Given the description of an element on the screen output the (x, y) to click on. 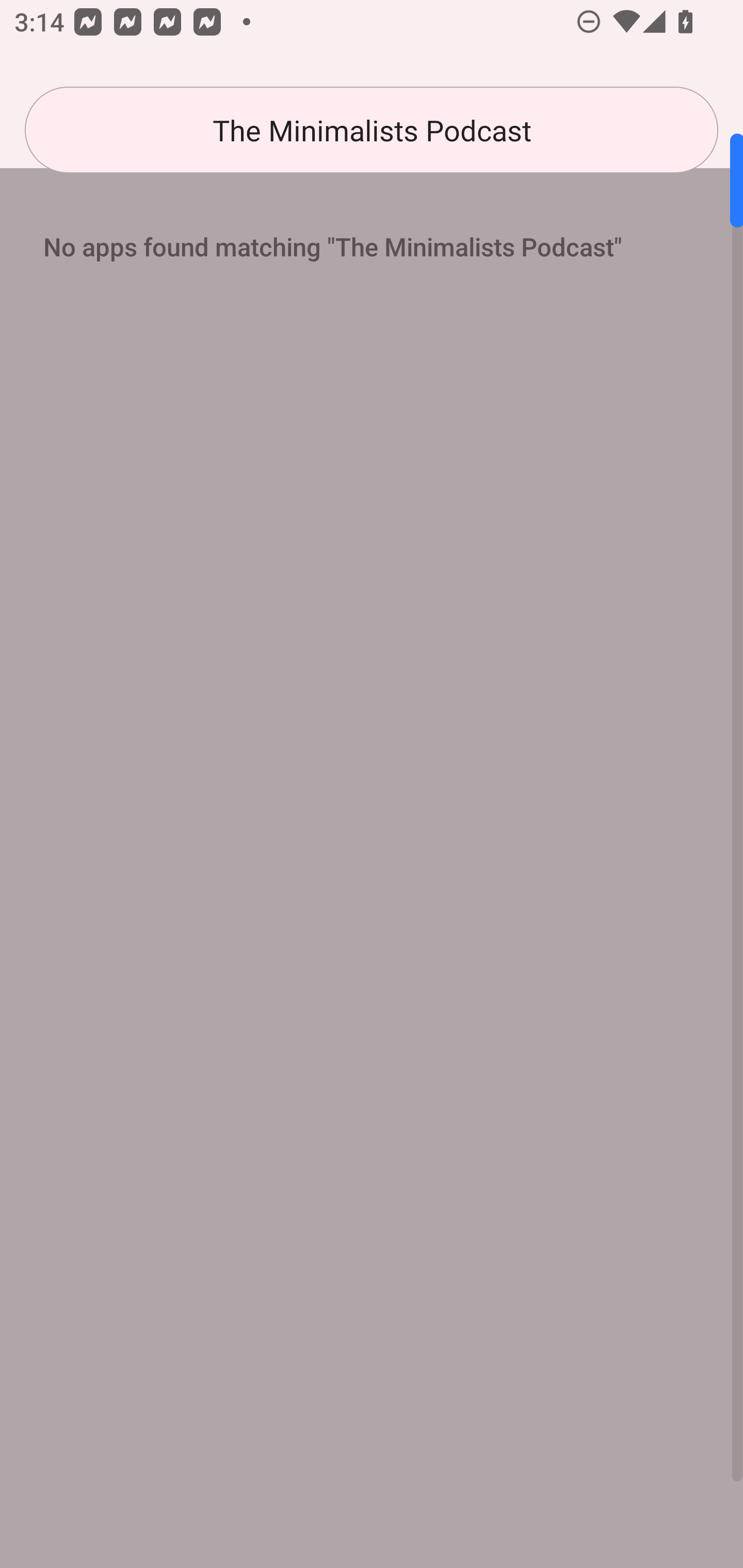
The Minimalists Podcast (371, 130)
